Given the description of an element on the screen output the (x, y) to click on. 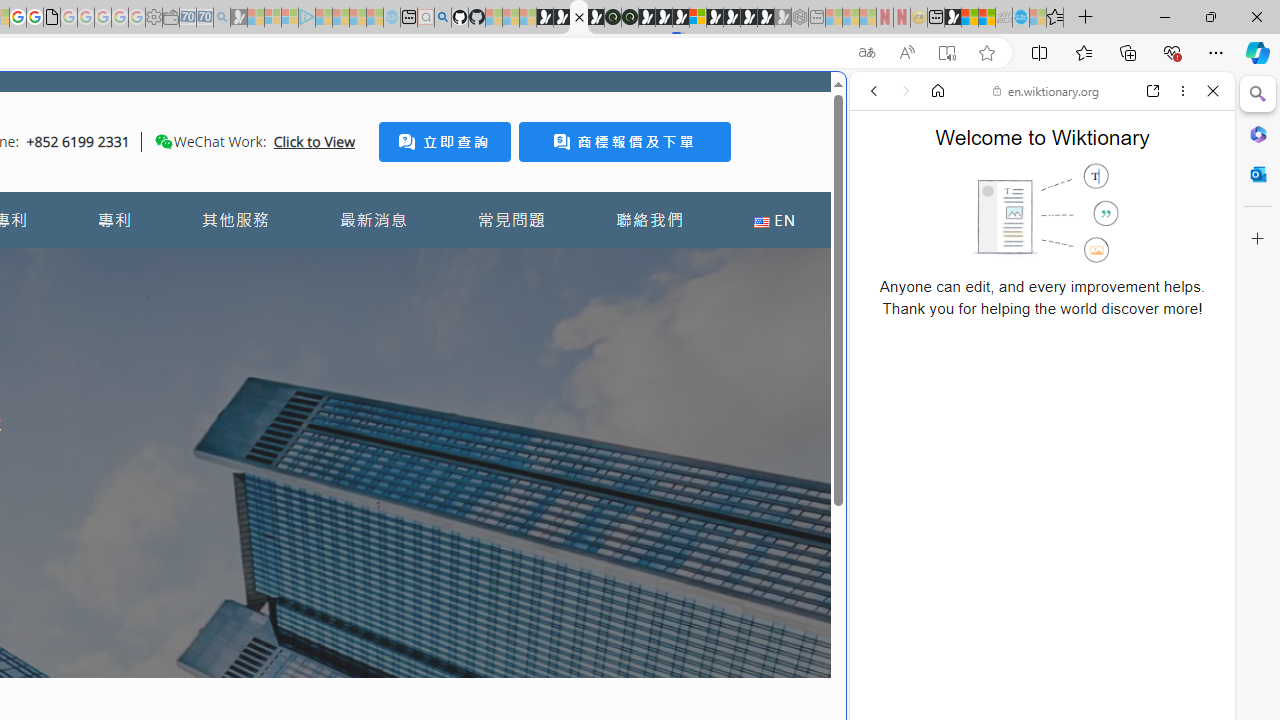
Search Filter, VIDEOS (1006, 228)
Home | Sky Blue Bikes - Sky Blue Bikes (687, 426)
Earth has six continents not seven, radical new study claims (986, 17)
Wiktionary (1034, 669)
World - MSN (969, 17)
This site scope (936, 180)
Microsoft Start Gaming - Sleeping (238, 17)
